Given the description of an element on the screen output the (x, y) to click on. 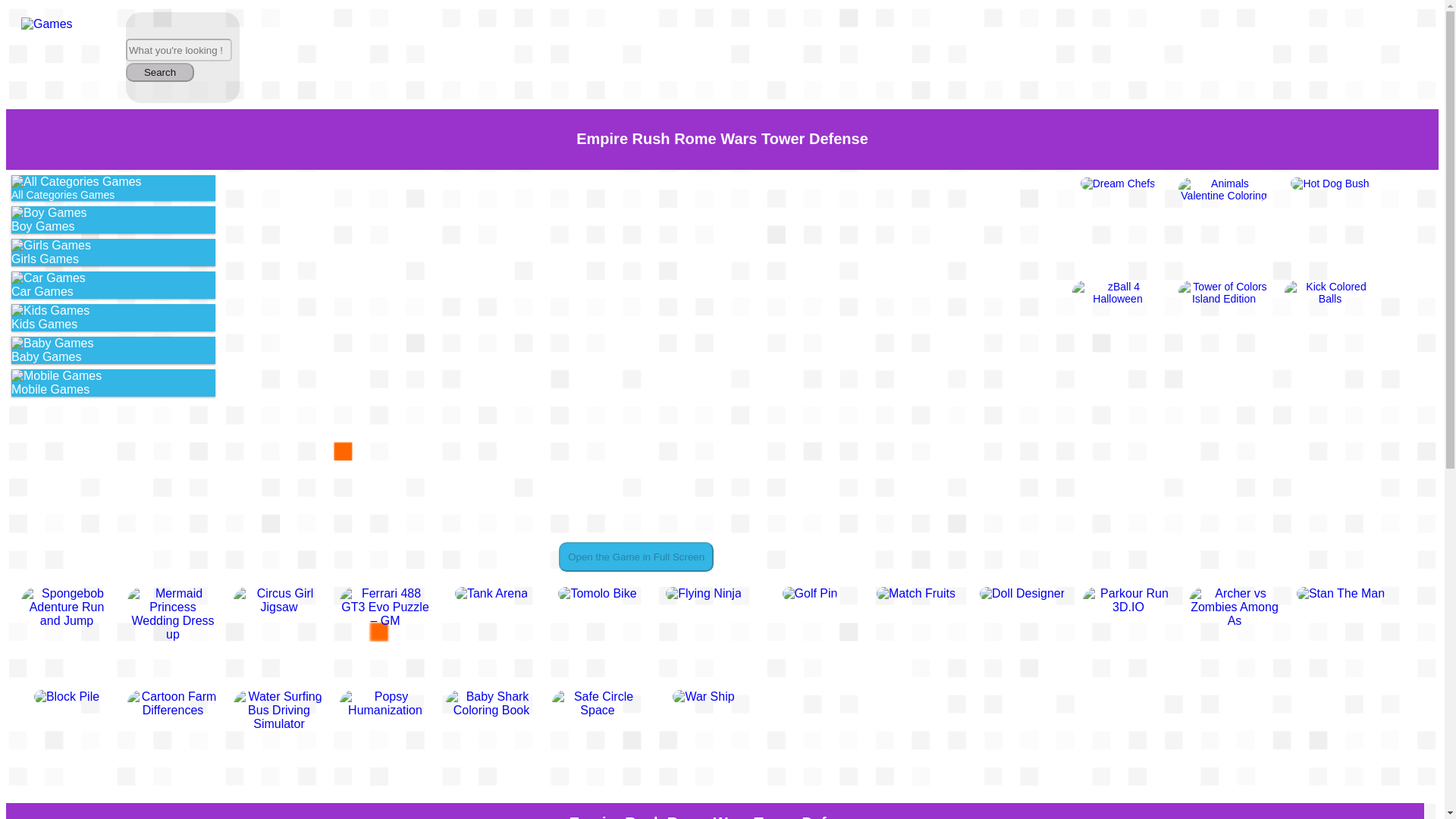
Hot Dog Bush (1329, 183)
All Categories Games (113, 187)
Dream Chefs (1117, 183)
Girls Games (50, 245)
Car Games (48, 278)
Kids Games (49, 310)
Games (46, 24)
Boy Games (113, 219)
All Categories Games (76, 182)
zBall 4 Halloween (1117, 292)
Tower of Colors Island Edition (1223, 292)
Mobile Games (113, 382)
Animals Valentine Coloring (1223, 189)
Dream Chefs (1117, 183)
Girls Games (113, 252)
